Given the description of an element on the screen output the (x, y) to click on. 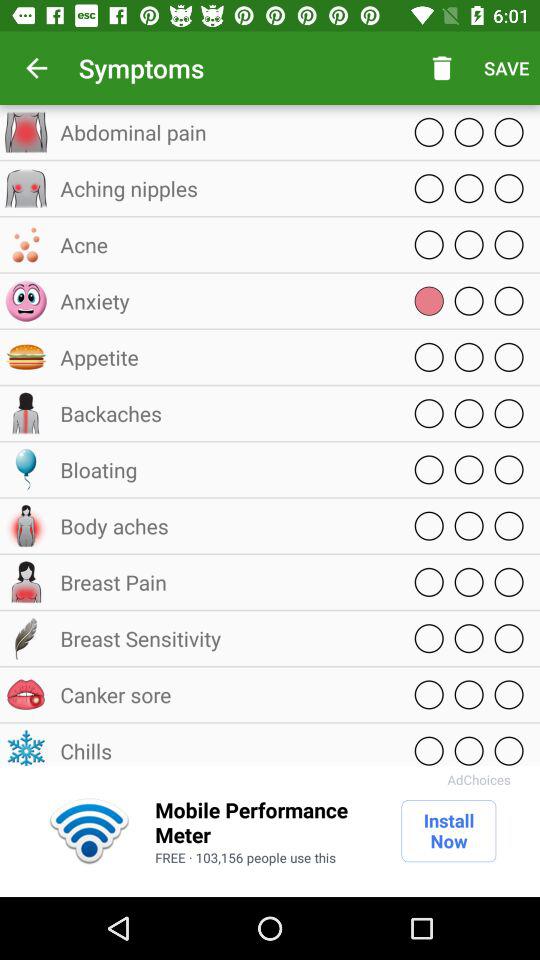
turn on the item below breast pain icon (225, 638)
